Given the description of an element on the screen output the (x, y) to click on. 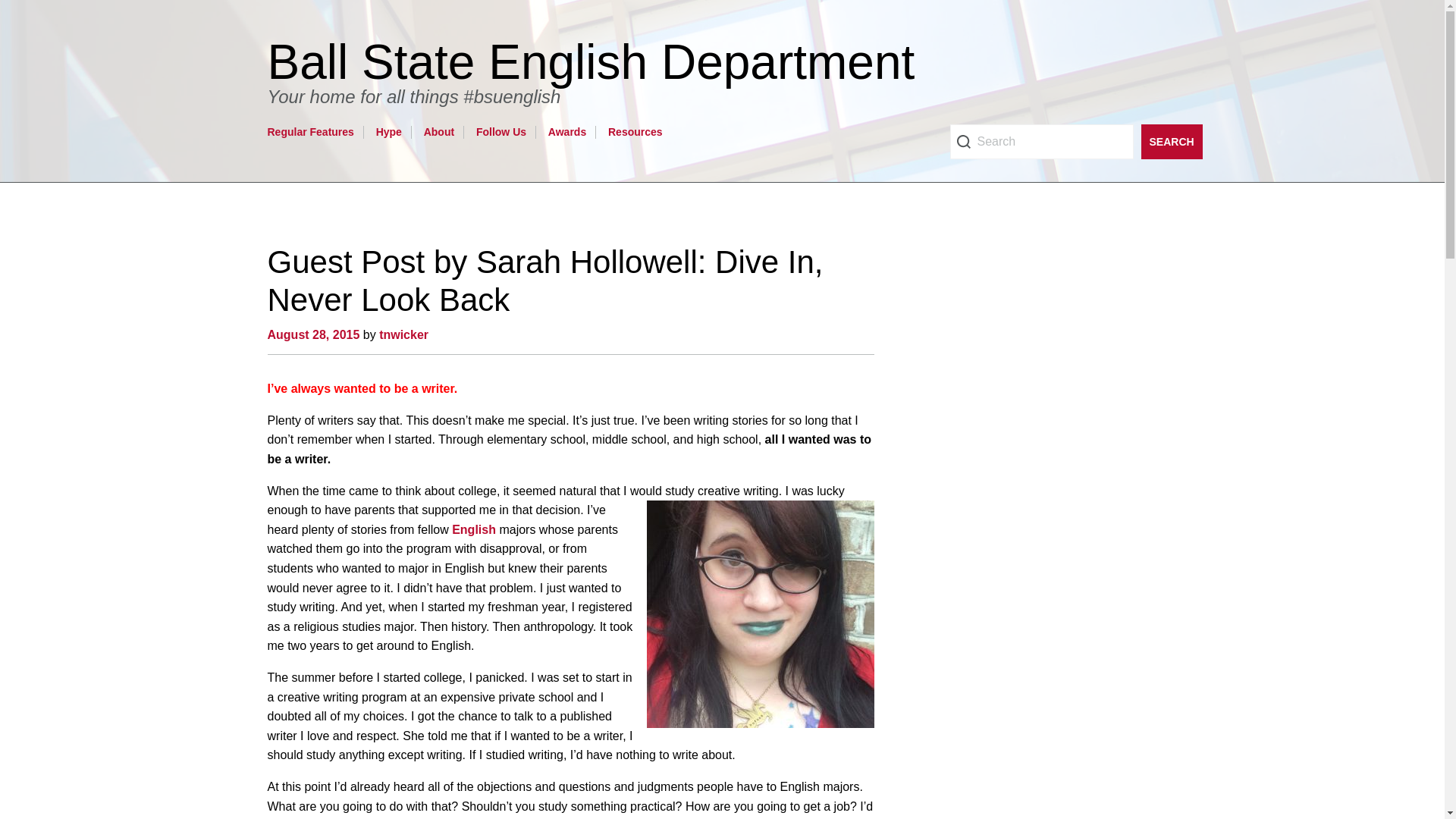
About (438, 132)
Hype (388, 132)
Awards (567, 132)
Search (1171, 141)
Follow Us (500, 132)
Ball State English Department (597, 61)
Posts by tnwicker (403, 334)
Submit Search (1171, 141)
Resources (635, 132)
Search (1040, 141)
